Given the description of an element on the screen output the (x, y) to click on. 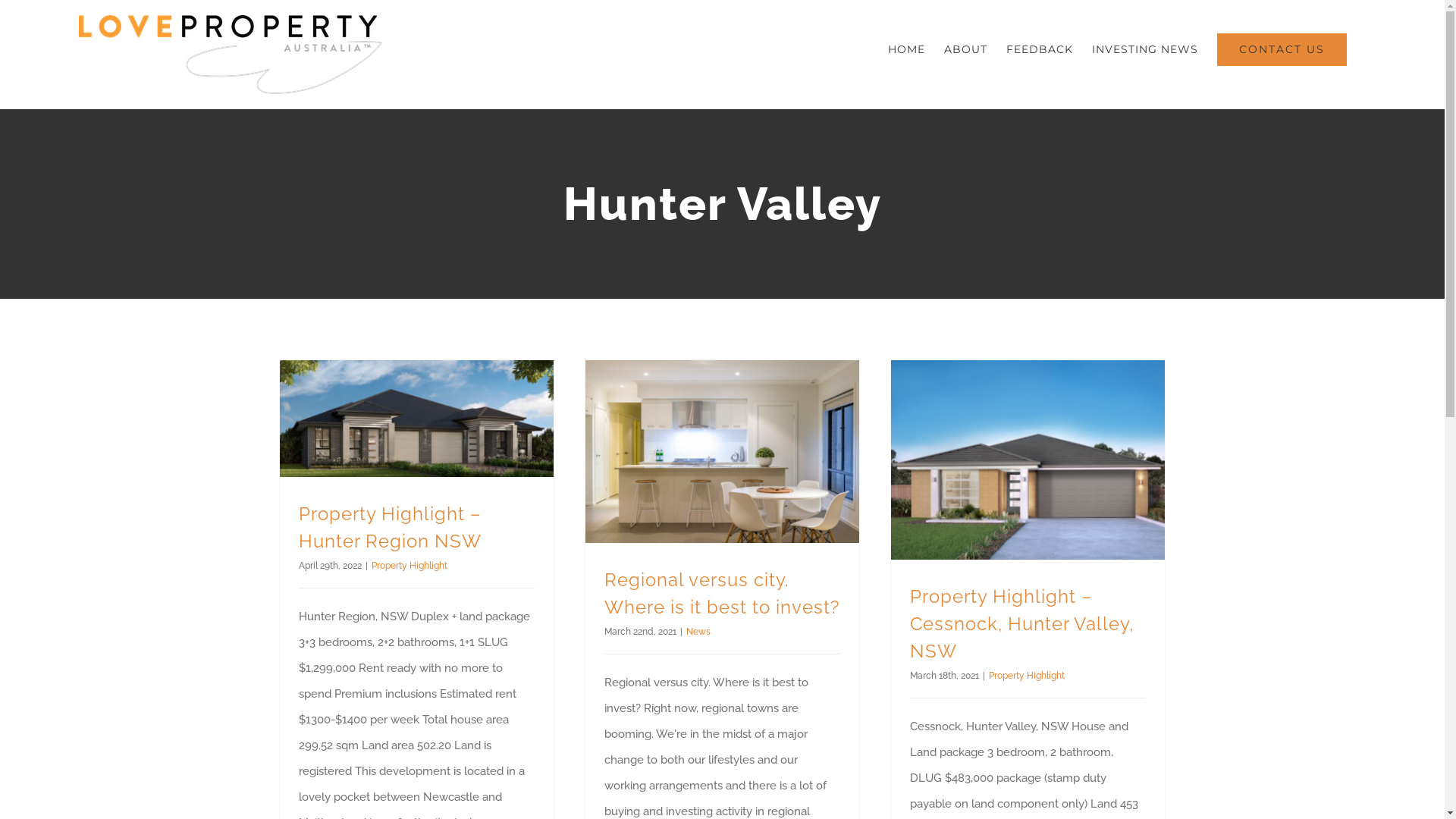
ABOUT Element type: text (965, 49)
News Element type: text (697, 631)
Property Highlight Element type: text (1026, 675)
Regional versus city. Where is it best to invest? Element type: text (720, 593)
FEEDBACK Element type: text (1039, 49)
CONTACT US Element type: text (1281, 49)
Property Highlight Element type: text (409, 565)
INVESTING NEWS Element type: text (1145, 49)
HOME Element type: text (906, 49)
